Given the description of an element on the screen output the (x, y) to click on. 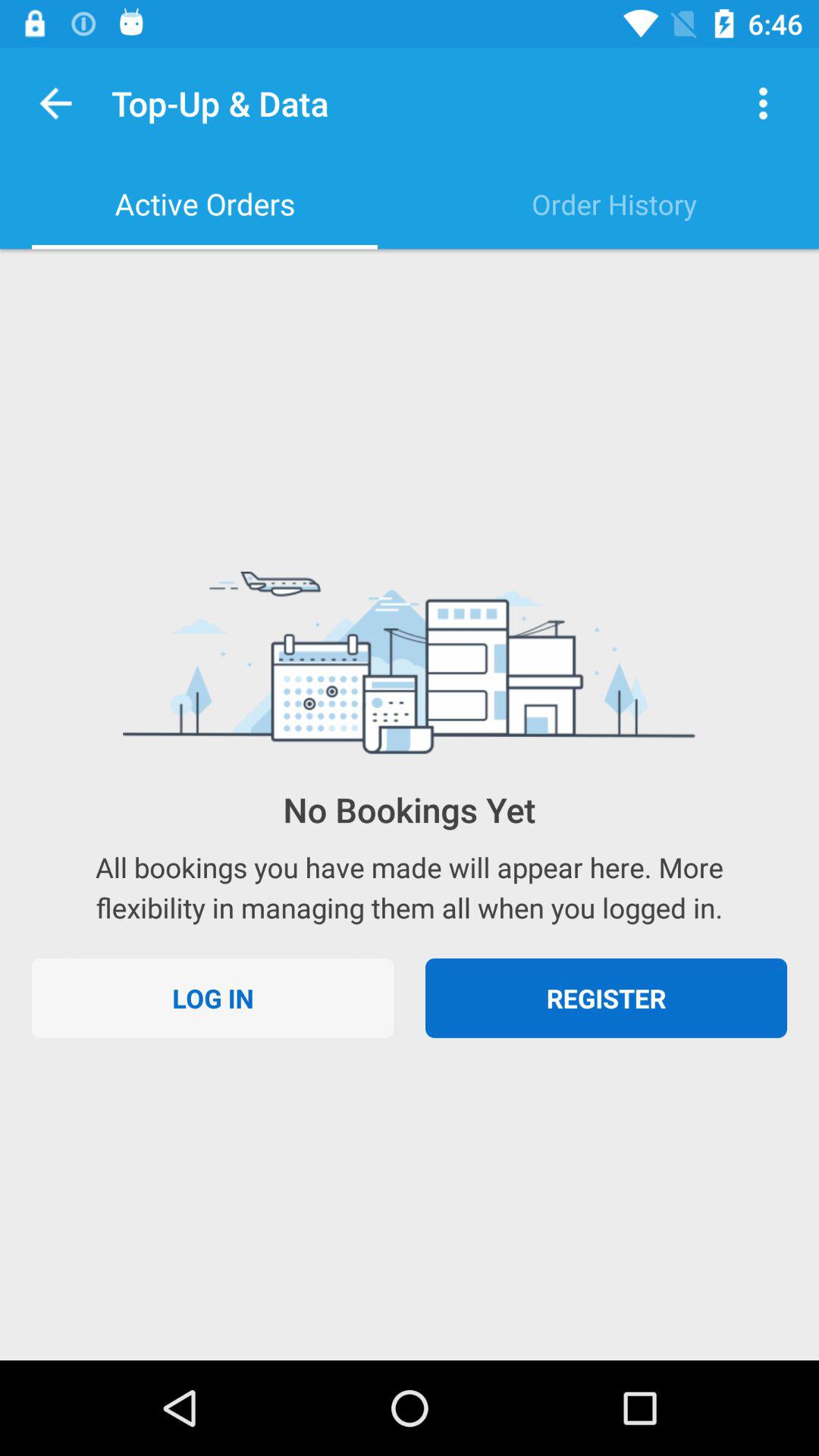
launch the order history item (614, 204)
